Given the description of an element on the screen output the (x, y) to click on. 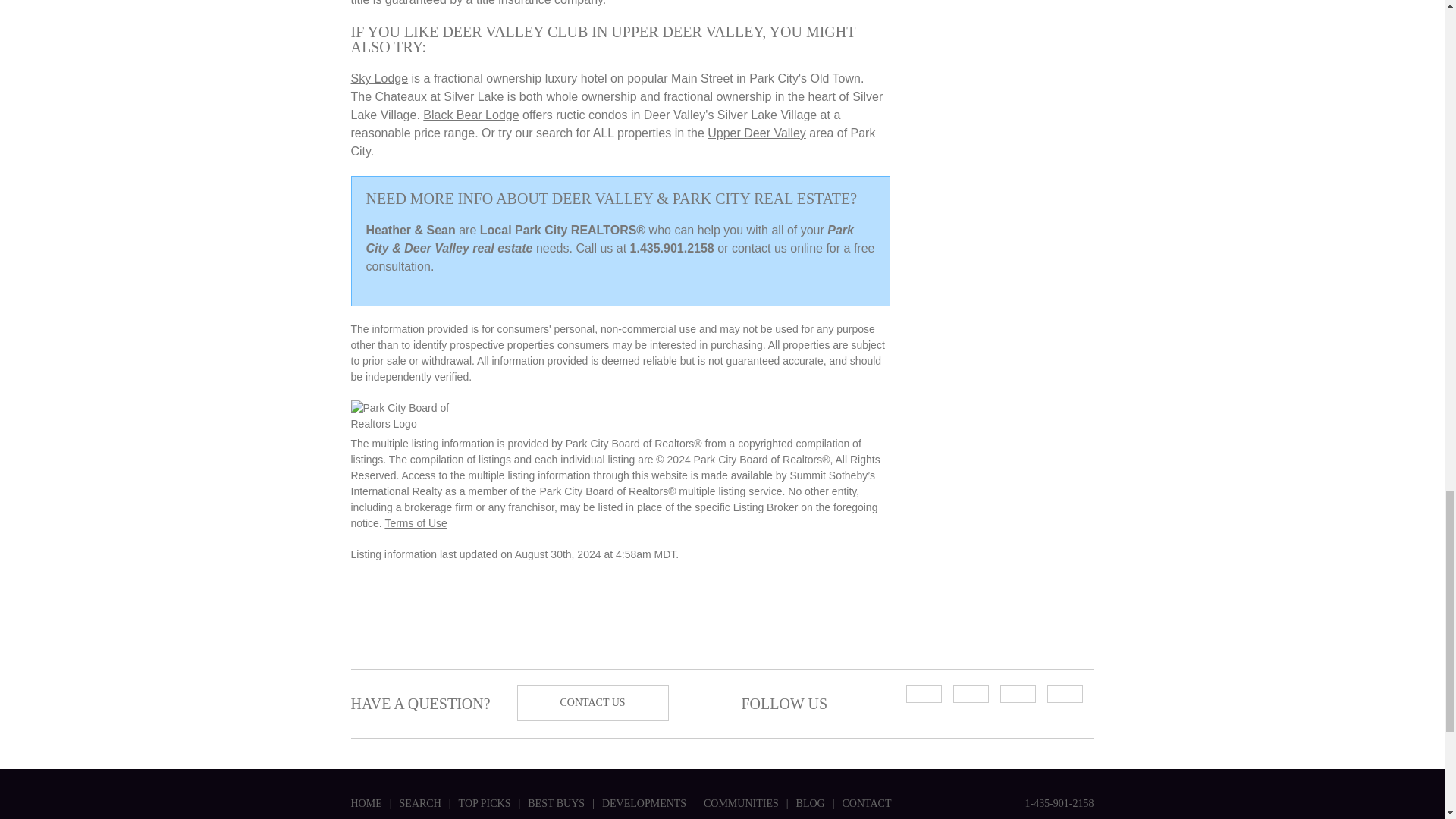
contact us online (777, 247)
Black Bear Lodge (470, 114)
Upper Deer Valley (756, 132)
Black Bear Lodge Deer Valley condos for sale (470, 114)
Subscribe to RSS (922, 693)
Chateaux at Silver Lake Deer Valley condos for sale (439, 96)
Chateaux at Silver Lake (439, 96)
Sky Lodge (378, 78)
Terms of Use (415, 522)
Upper Deer Valley real estate for sale (756, 132)
